Given the description of an element on the screen output the (x, y) to click on. 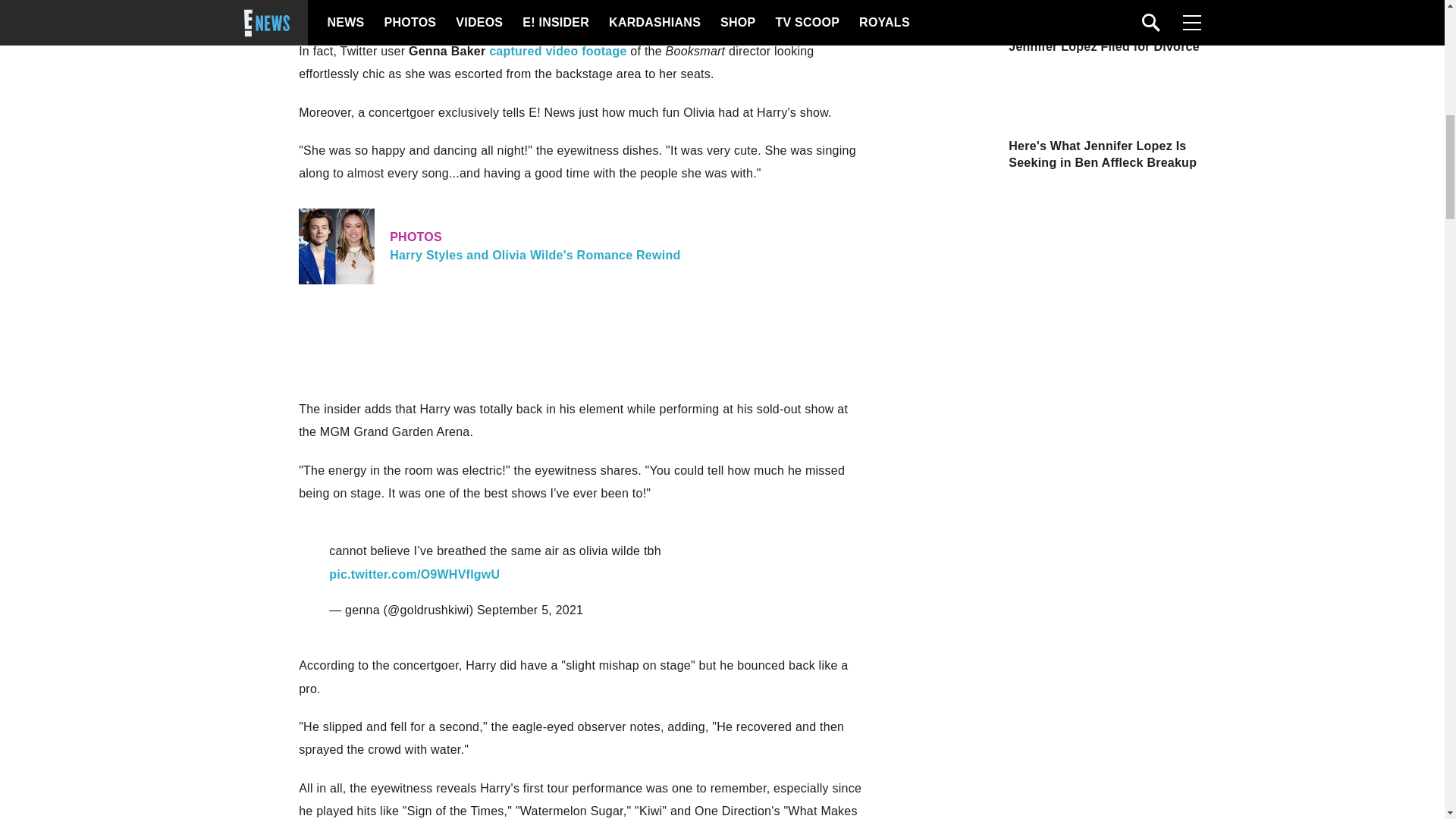
September 5, 2021 (581, 246)
Here's What Jennifer Lopez Is Seeking in Ben Affleck Breakup (530, 609)
captured video footage (1066, 154)
